Given the description of an element on the screen output the (x, y) to click on. 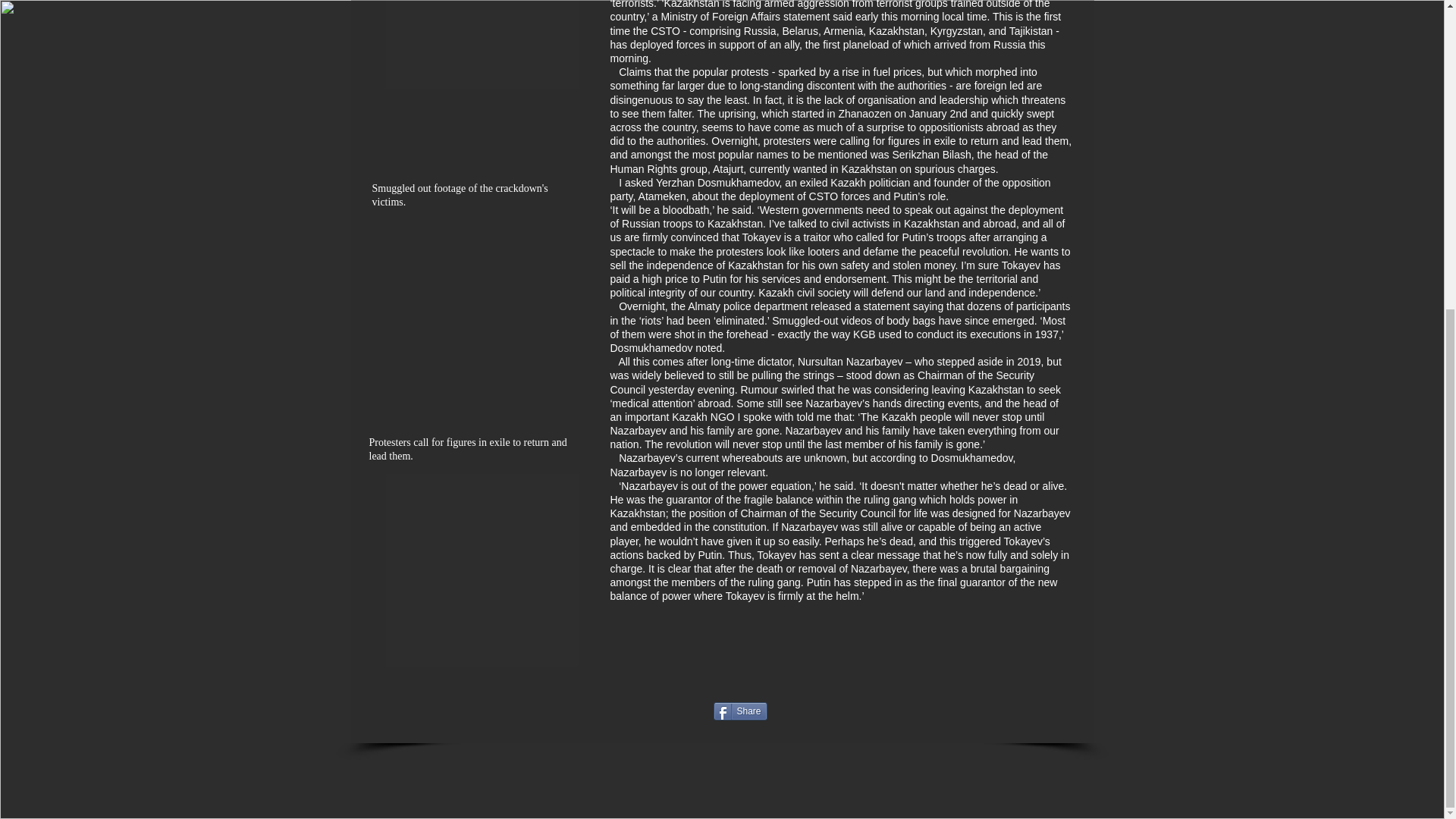
Share (740, 710)
Twitter Tweet (912, 712)
Share (740, 710)
